Given the description of an element on the screen output the (x, y) to click on. 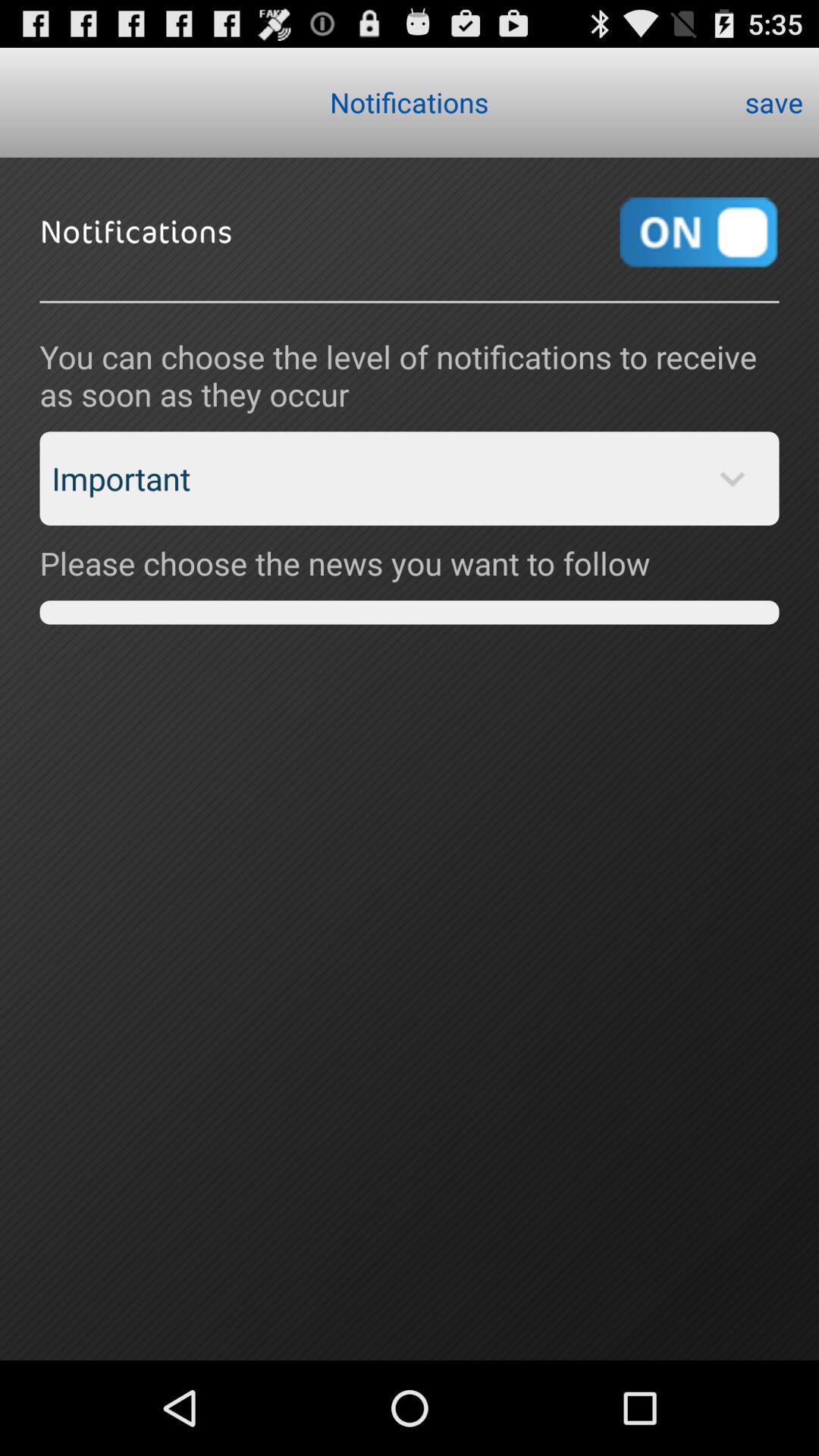
tap button at the top right corner (774, 102)
